Given the description of an element on the screen output the (x, y) to click on. 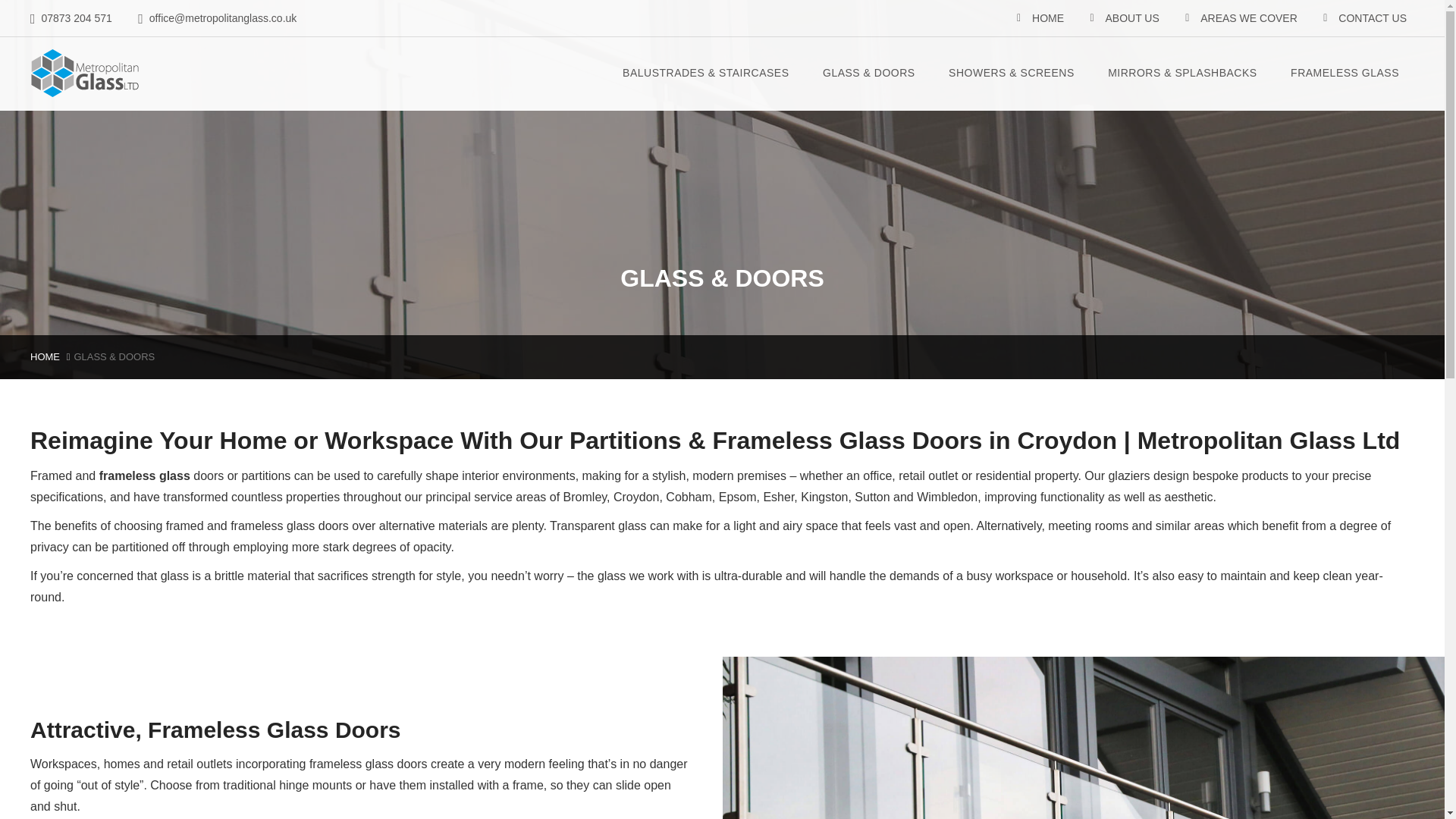
frameless glass (144, 475)
AREAS WE COVER (1248, 18)
ABOUT US (1131, 18)
HOME (1048, 18)
CONTACT US (1372, 18)
HOME (44, 356)
07873 204 571 (71, 18)
FRAMELESS GLASS (1344, 73)
